Given the description of an element on the screen output the (x, y) to click on. 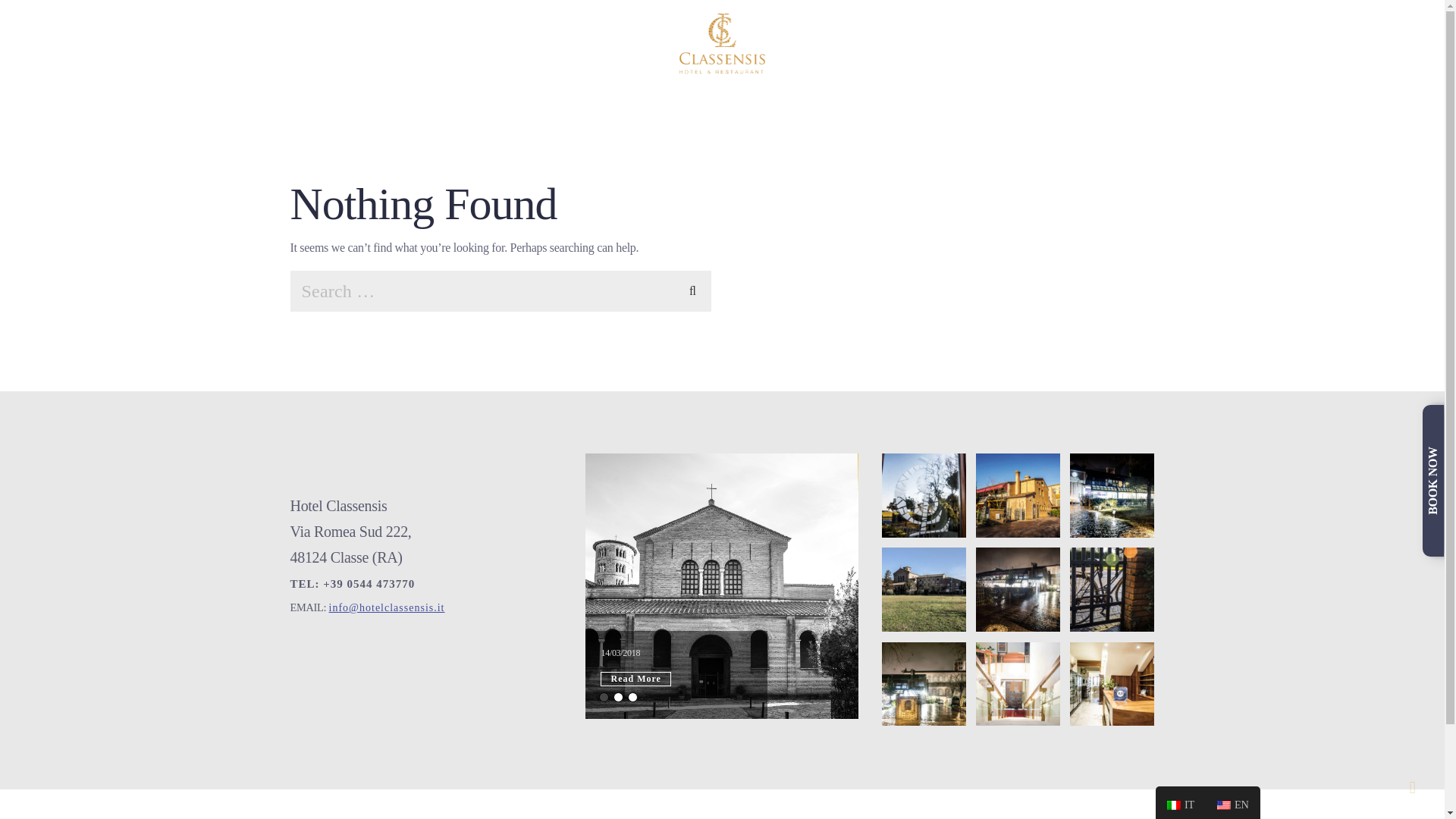
GALLERY (1094, 42)
HOME (403, 42)
OFFERS (615, 42)
Search (692, 288)
ROOMS (467, 42)
Search (692, 288)
CONTACTS (1013, 42)
Italian (1180, 802)
EVIRONS (931, 42)
English (1223, 804)
